Given the description of an element on the screen output the (x, y) to click on. 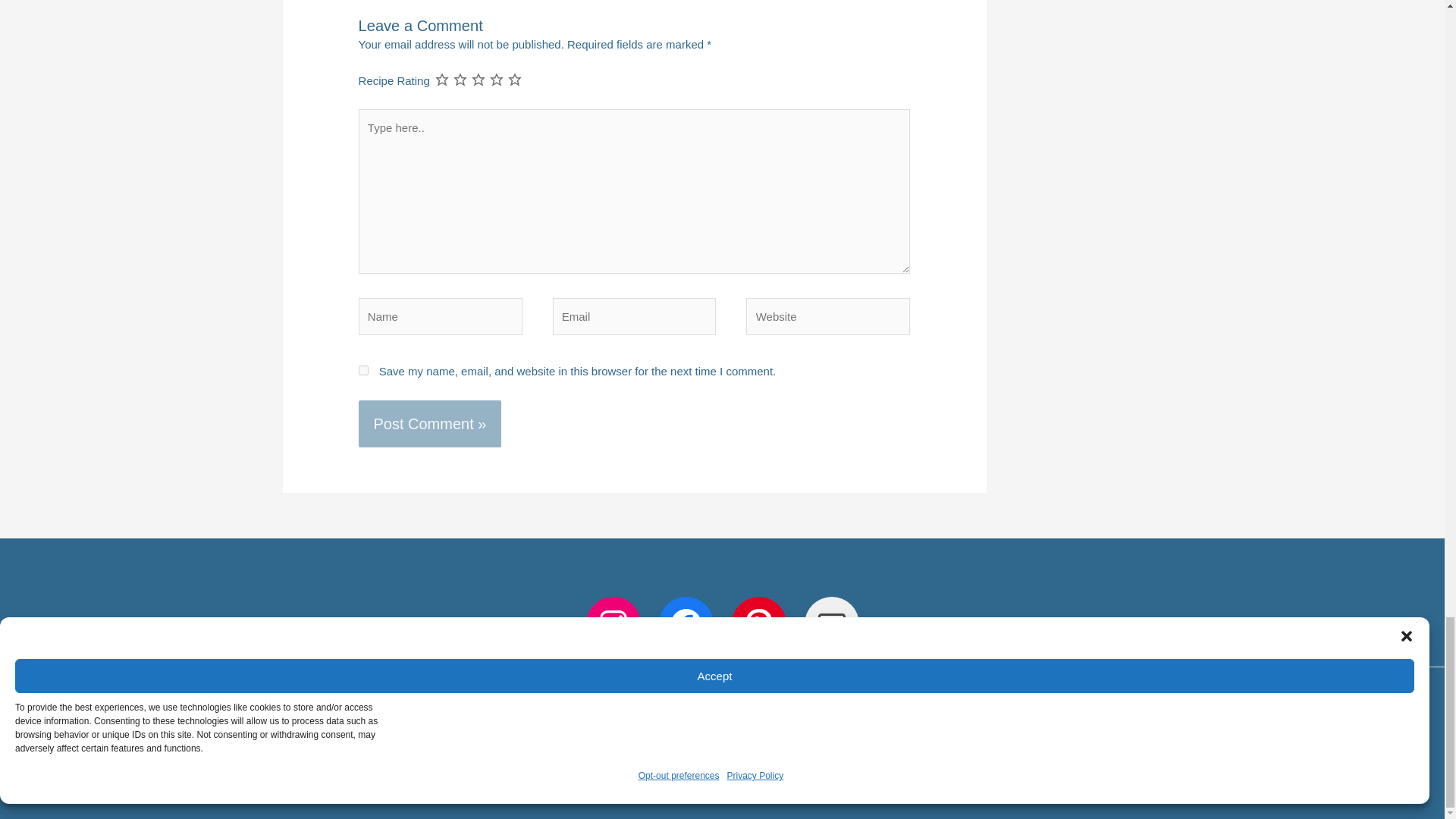
yes (363, 370)
